Given the description of an element on the screen output the (x, y) to click on. 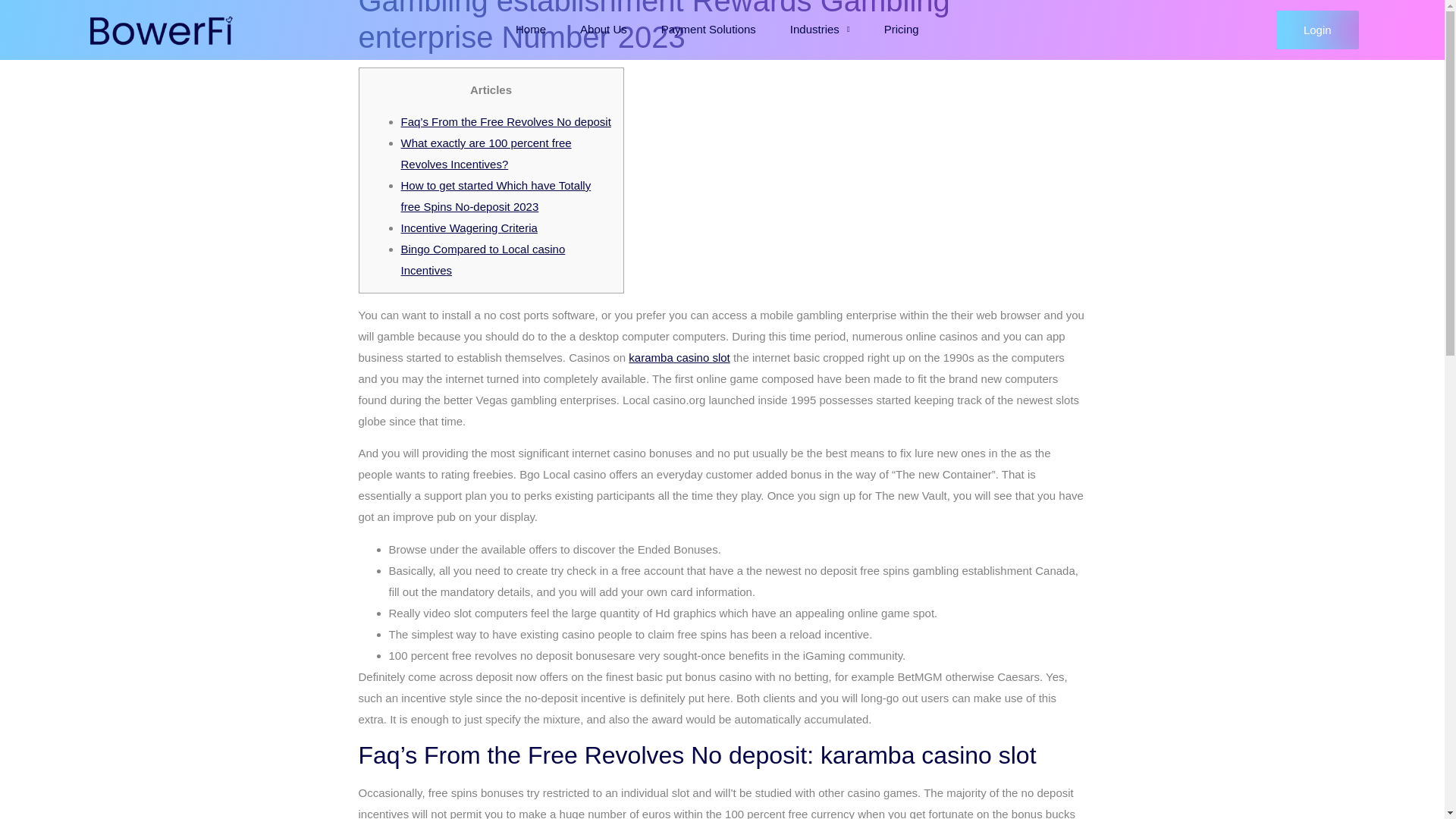
Payment Solutions (708, 29)
Incentive Wagering Criteria (468, 227)
About Us (603, 29)
What exactly are 100 percent free Revolves Incentives? (485, 153)
Pricing (901, 29)
Industries (819, 29)
Bingo Compared to Local casino Incentives (482, 259)
Home (530, 29)
Login (1317, 29)
karamba casino slot (678, 357)
